Given the description of an element on the screen output the (x, y) to click on. 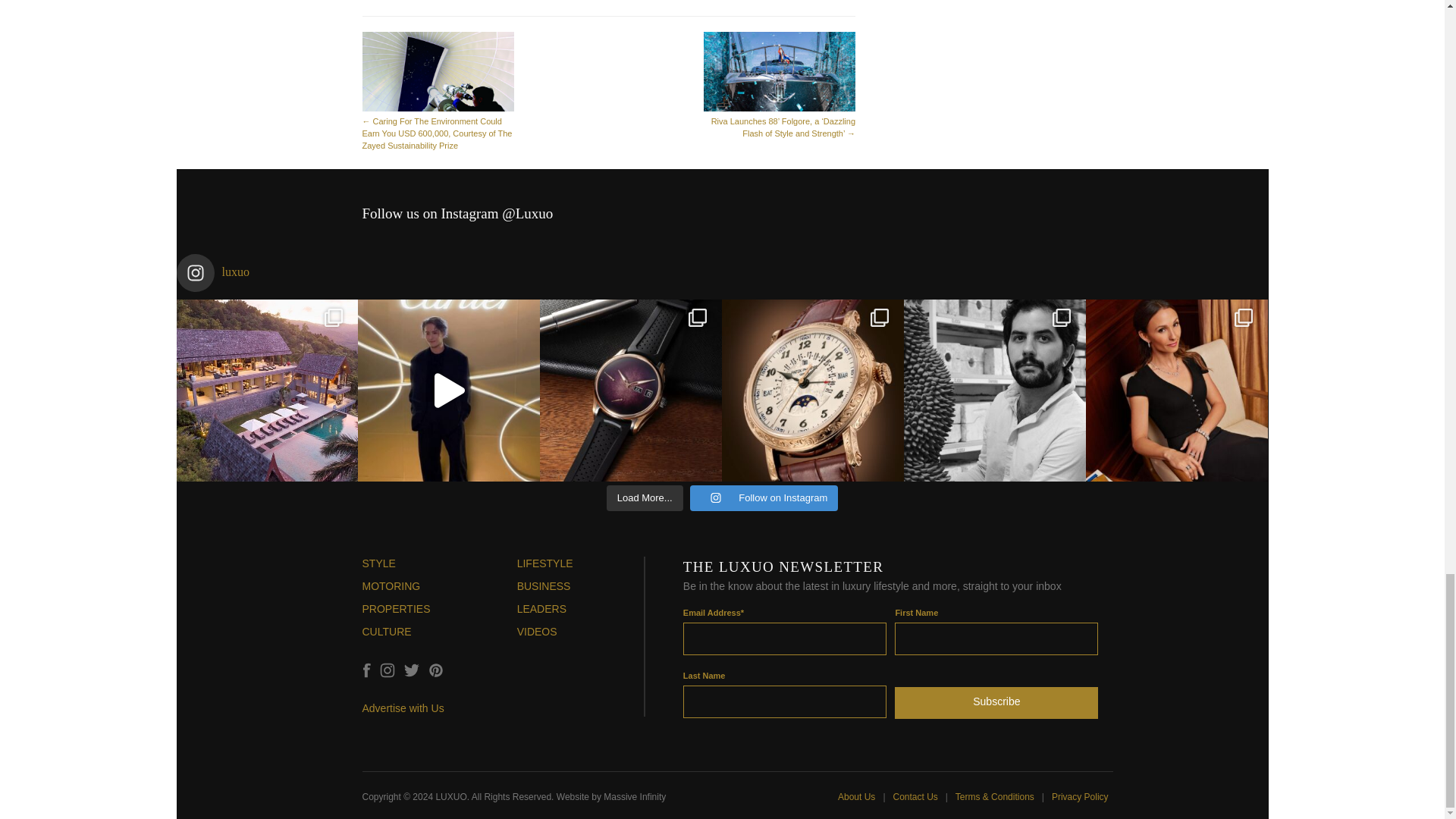
Subscribe (996, 698)
